Given the description of an element on the screen output the (x, y) to click on. 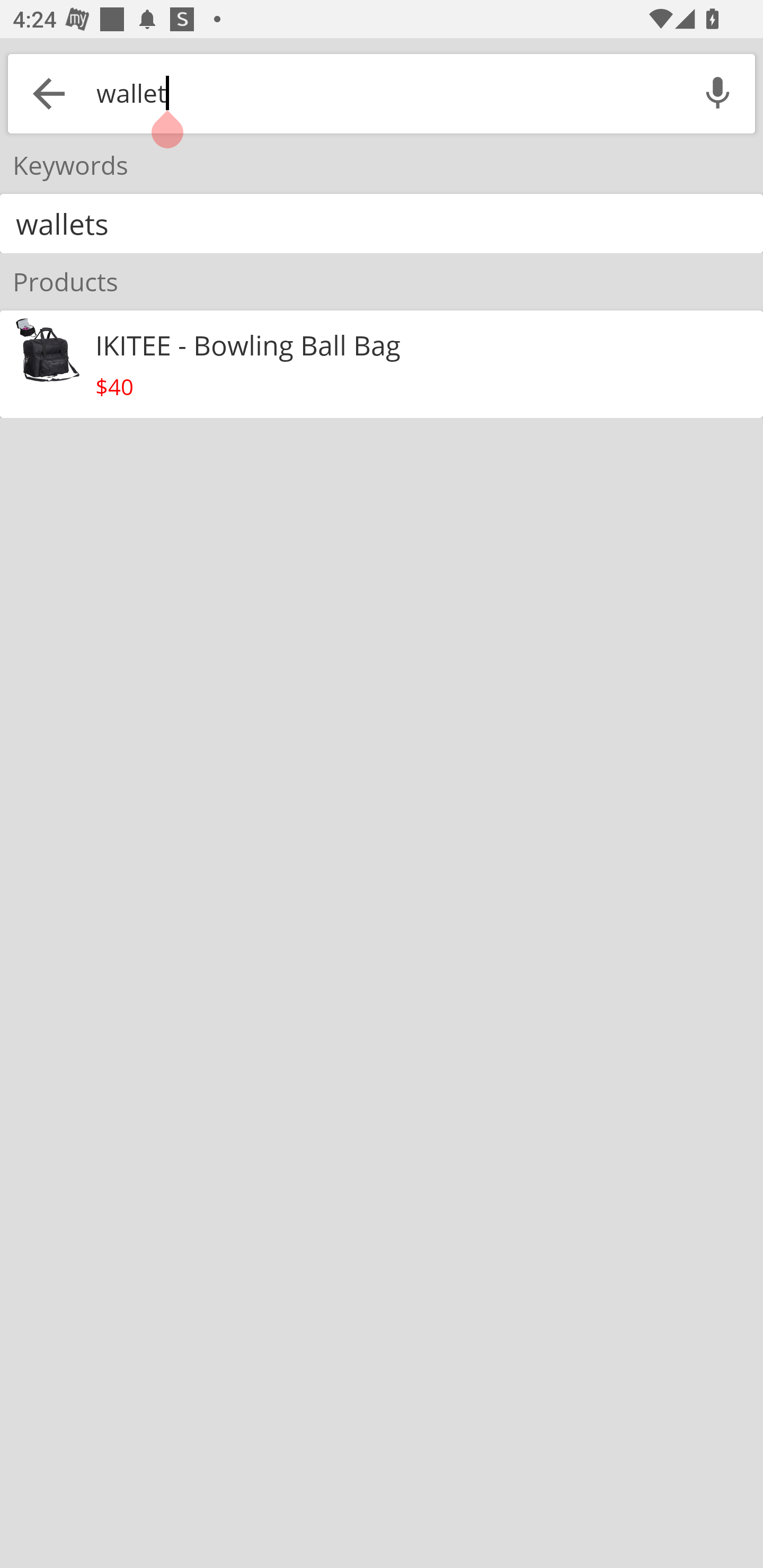
wallet (385, 93)
wallets (381, 223)
IKITEE - Bowling Ball Bag $40 (381, 364)
